Given the description of an element on the screen output the (x, y) to click on. 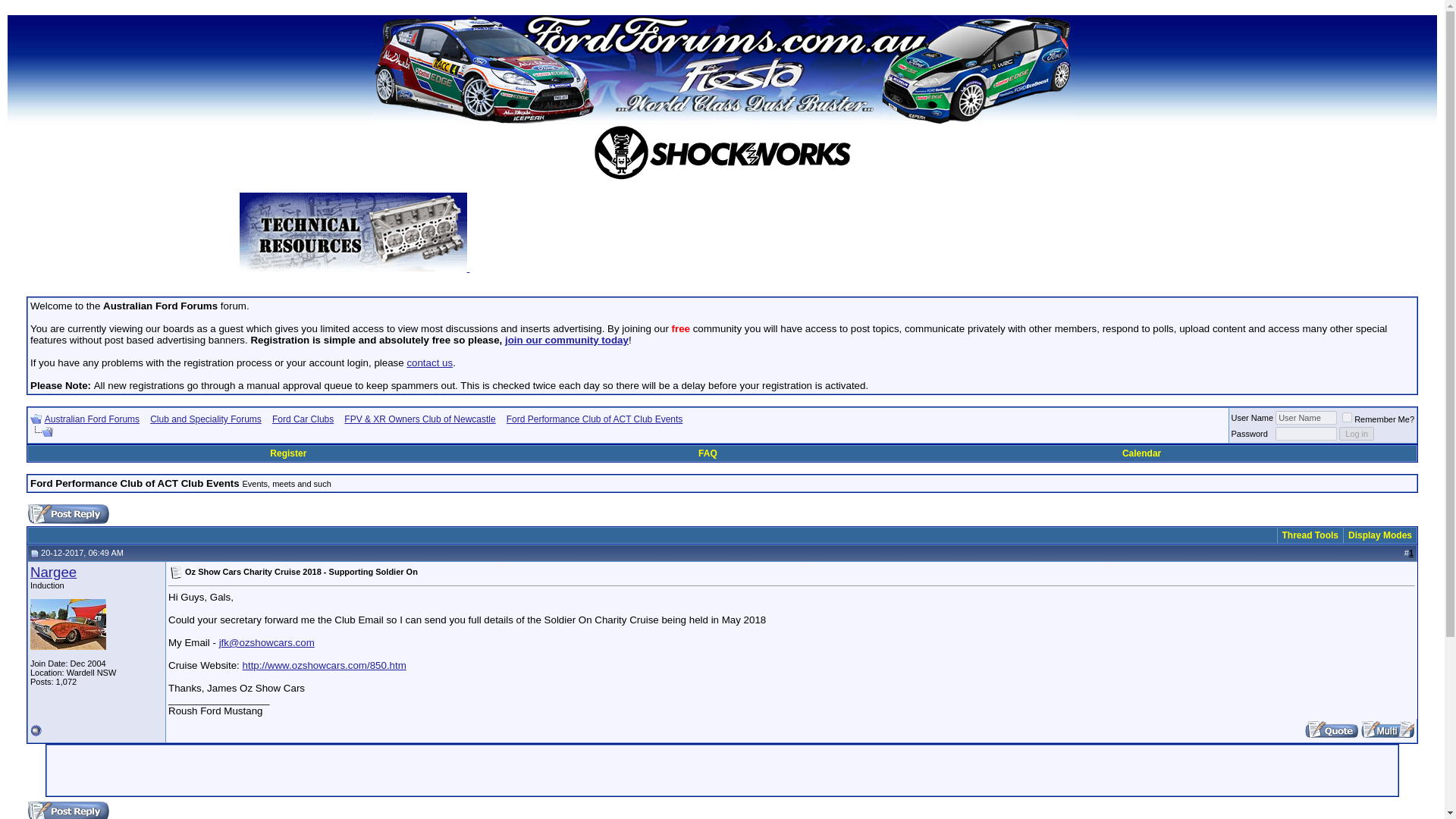
Australian Ford Forums (92, 419)
FAQ (707, 452)
1 (1347, 417)
Shockworks (721, 152)
contact us (429, 362)
Nargee (53, 571)
Reply (68, 514)
Log in (1356, 433)
Club and Speciality Forums (205, 419)
Log in (1356, 433)
Reload this Page (41, 431)
Ford Car Clubs (302, 419)
join our community today (566, 339)
Advertisement (836, 237)
